Given the description of an element on the screen output the (x, y) to click on. 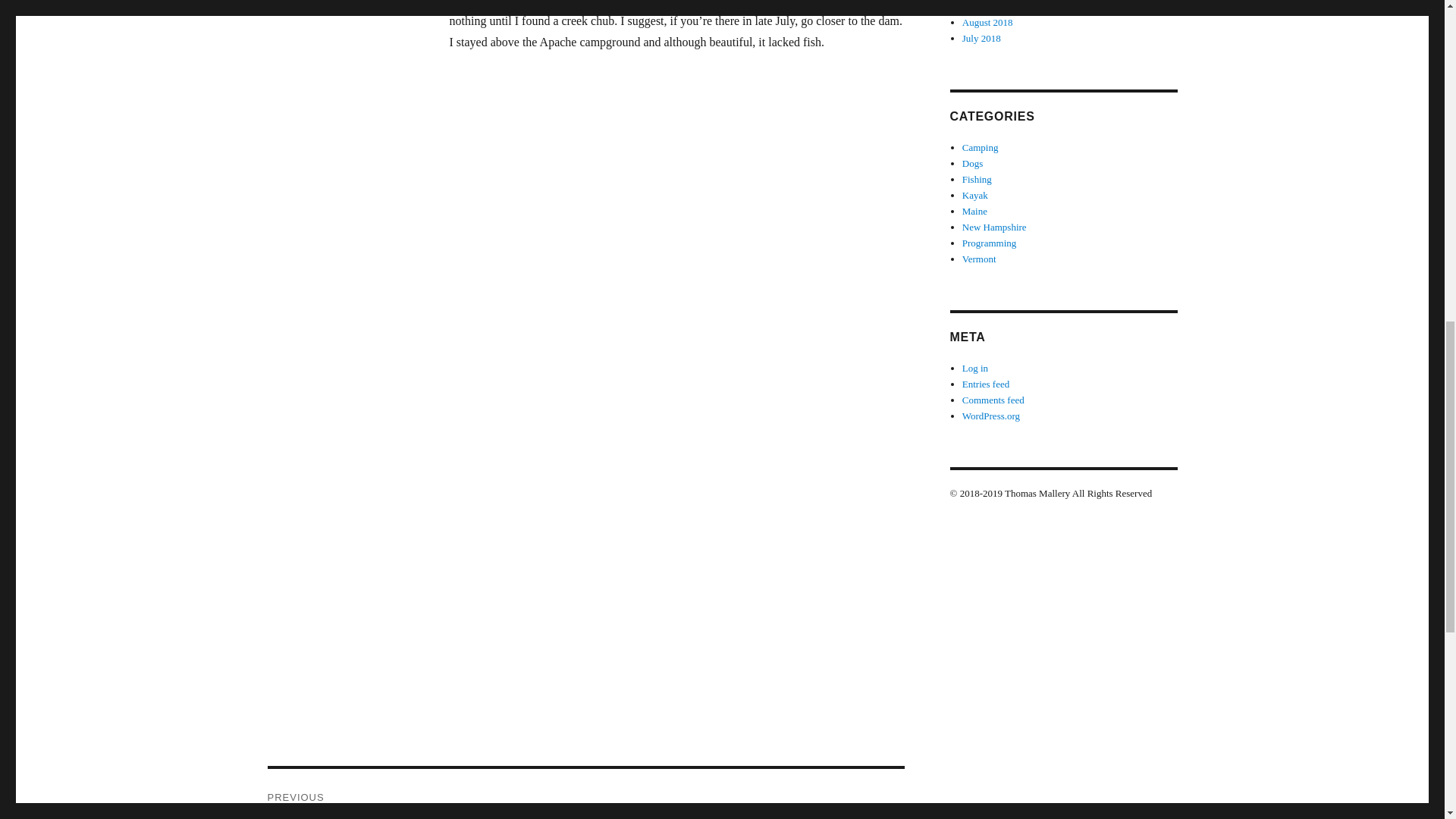
Vermont (978, 258)
Fishing (585, 794)
Maine (976, 179)
New Hampshire (974, 211)
Entries feed (994, 226)
Log in (985, 383)
Kayak (975, 367)
July 2018 (975, 194)
Dogs (981, 38)
Camping (972, 163)
August 2018 (980, 147)
Programming (987, 21)
June 2019 (989, 242)
